Given the description of an element on the screen output the (x, y) to click on. 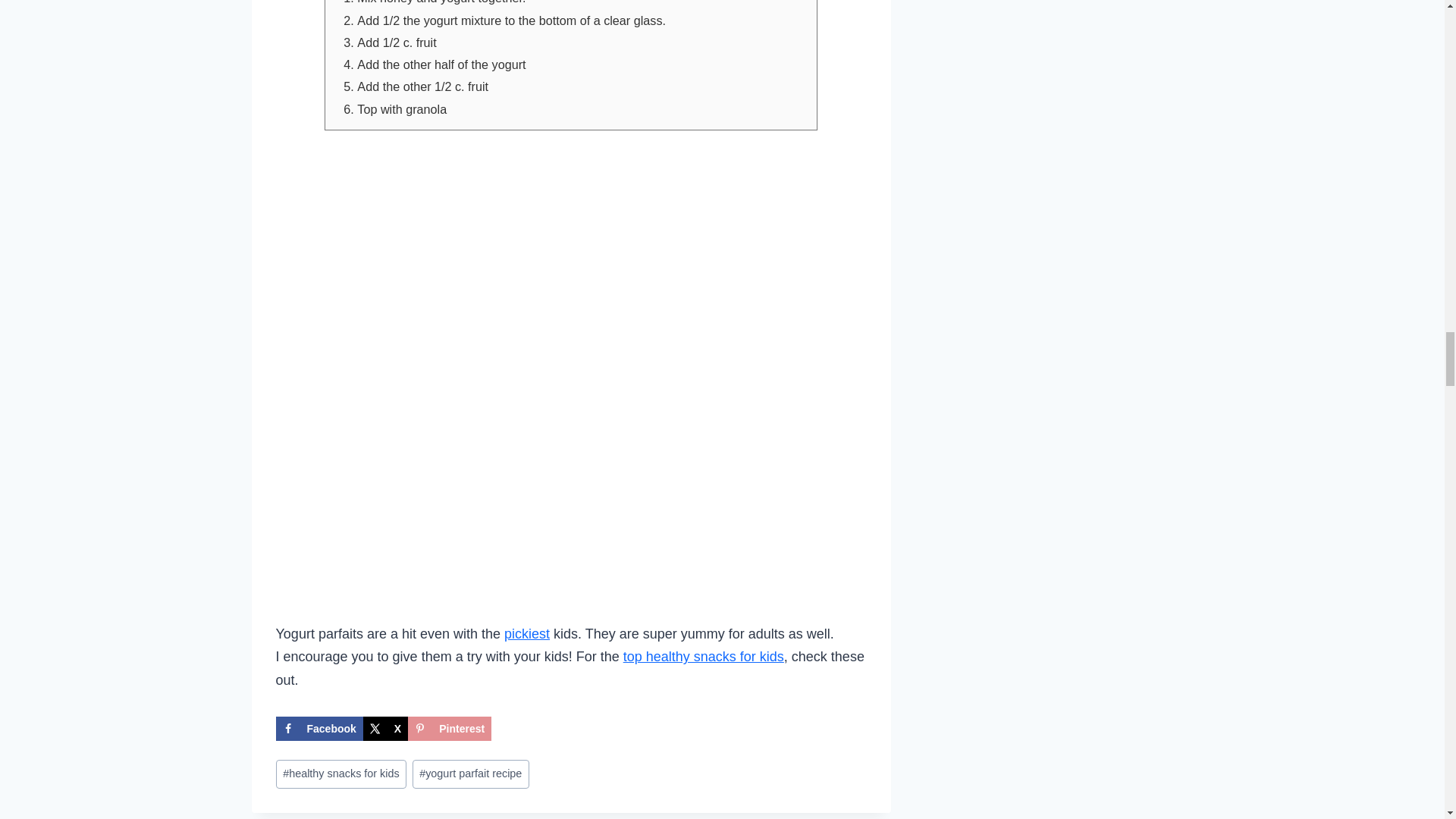
healthy snacks for kids (341, 774)
pickiest (526, 633)
yogurt parfait recipe (470, 774)
Save to Pinterest (449, 728)
X (384, 728)
top healthy snacks for kids (703, 656)
Facebook (319, 728)
Share on Facebook (319, 728)
Pinterest (449, 728)
Share on X (384, 728)
